Given the description of an element on the screen output the (x, y) to click on. 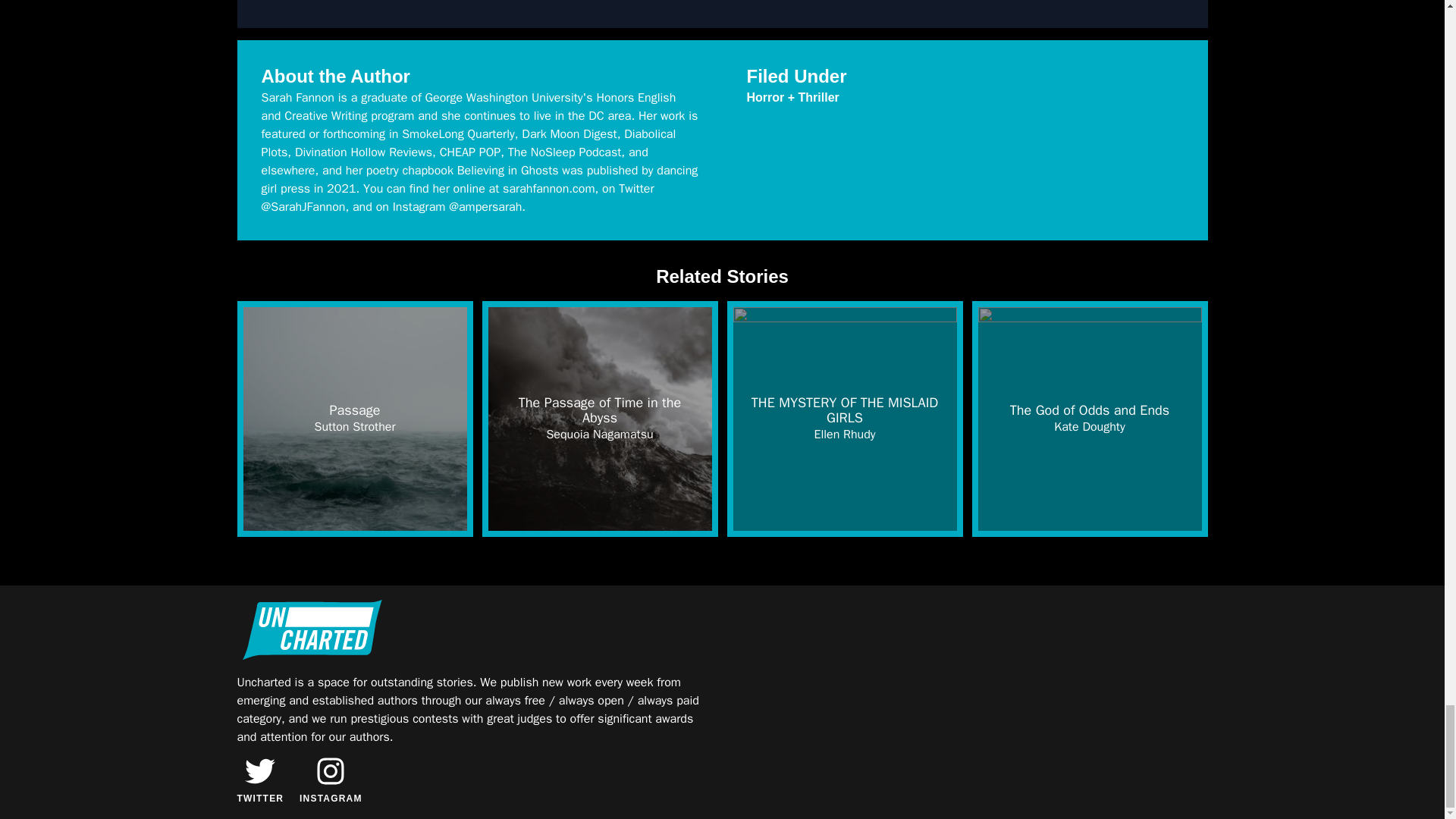
INSTAGRAM (330, 779)
TWITTER (259, 779)
